Given the description of an element on the screen output the (x, y) to click on. 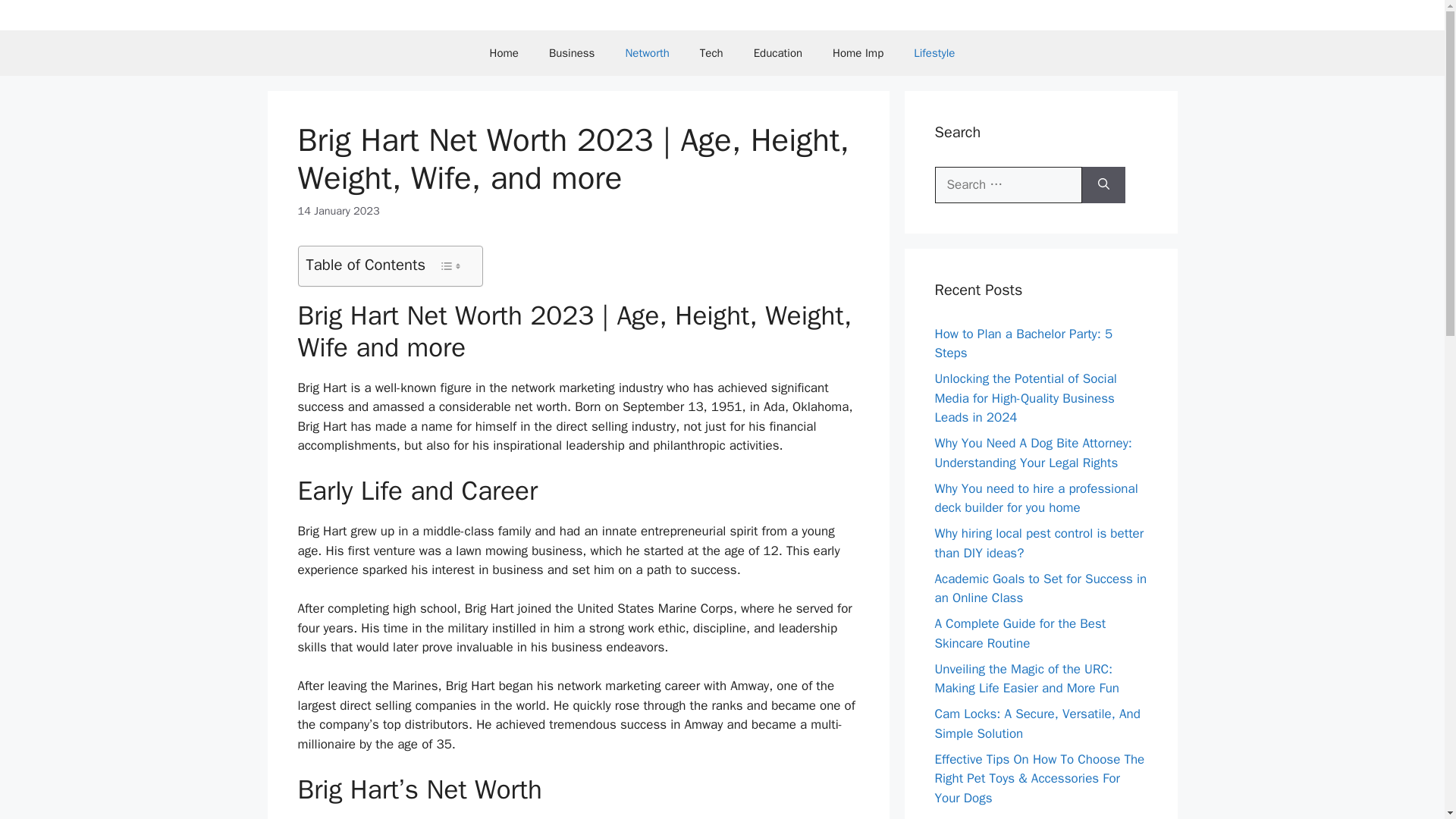
Why hiring local pest control is better than DIY ideas? (1038, 543)
How to Plan a Bachelor Party: 5 Steps (1023, 343)
Home (504, 53)
Lifestyle (933, 53)
Tech (711, 53)
Networth (647, 53)
Cam Locks: A Secure, Versatile, And Simple Solution (1037, 723)
Search for: (1007, 185)
Home Imp (857, 53)
A Complete Guide for the Best Skincare Routine (1019, 633)
Business (572, 53)
